Given the description of an element on the screen output the (x, y) to click on. 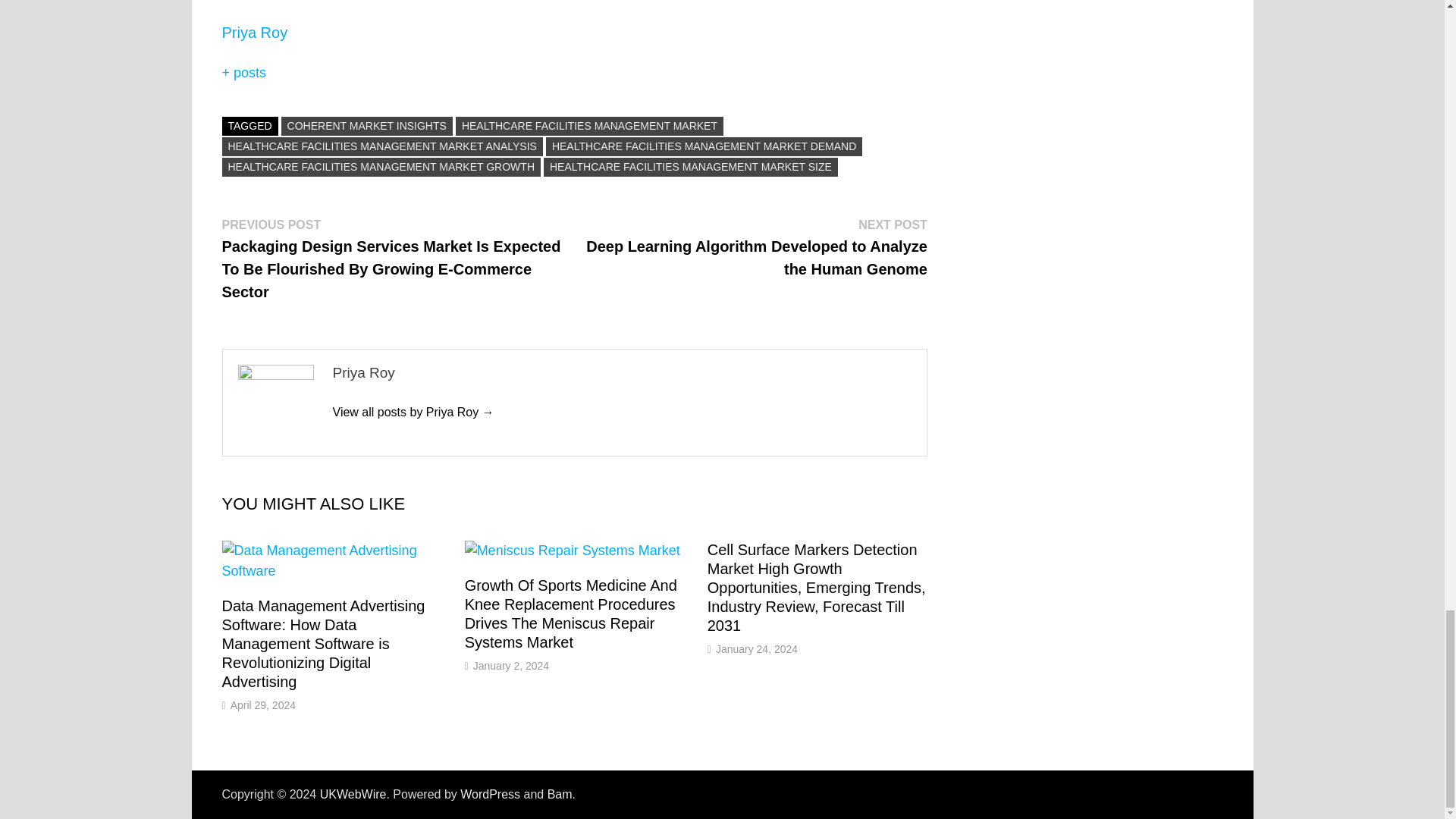
Priya Roy (412, 411)
UKWebWire (353, 793)
